Given the description of an element on the screen output the (x, y) to click on. 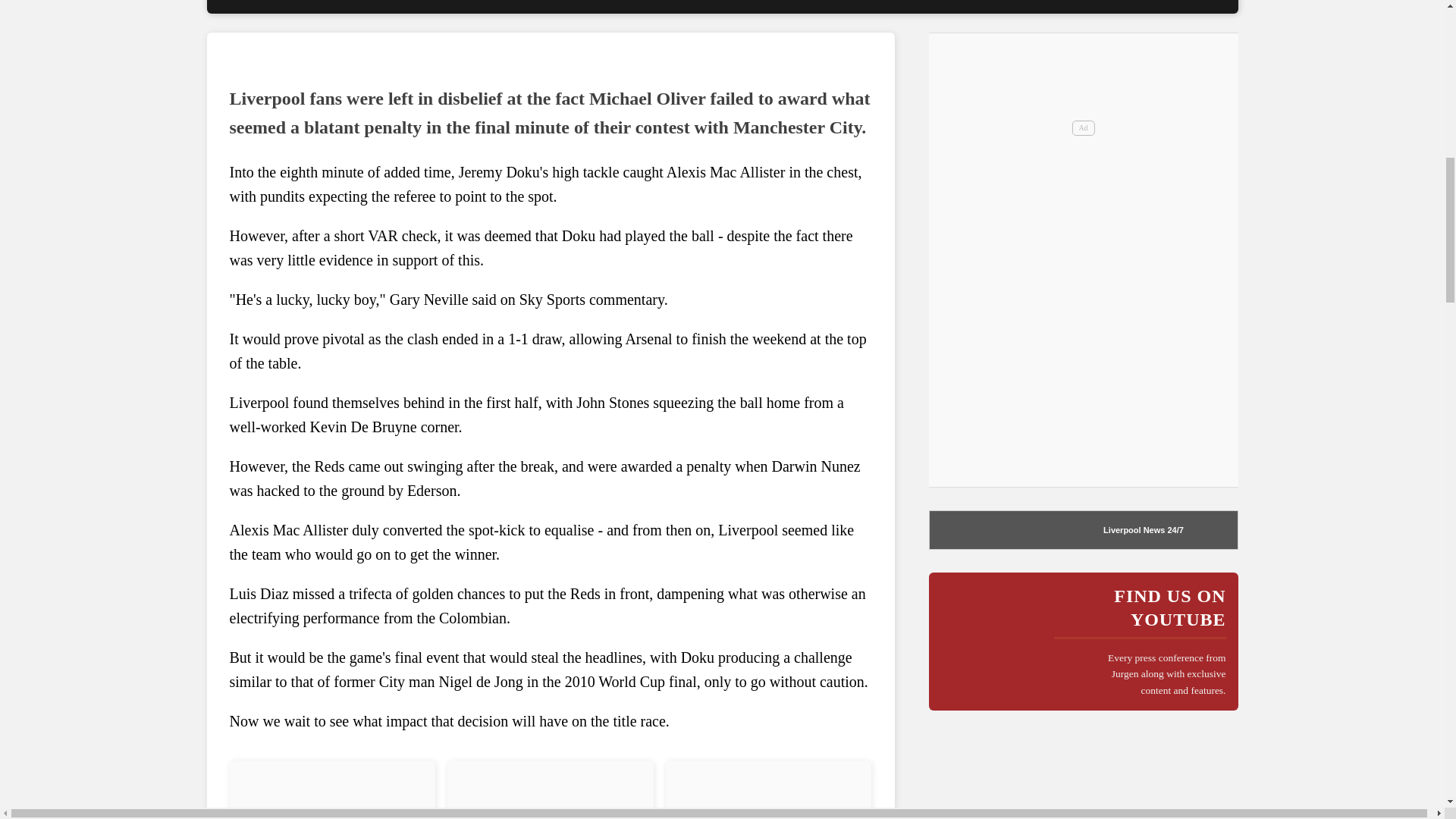
Click here for more Liverpool news from NewsNow (990, 529)
Click here for more Liverpool news from NewsNow (1173, 529)
Click here for more Liverpool news from NewsNow (1133, 529)
